Given the description of an element on the screen output the (x, y) to click on. 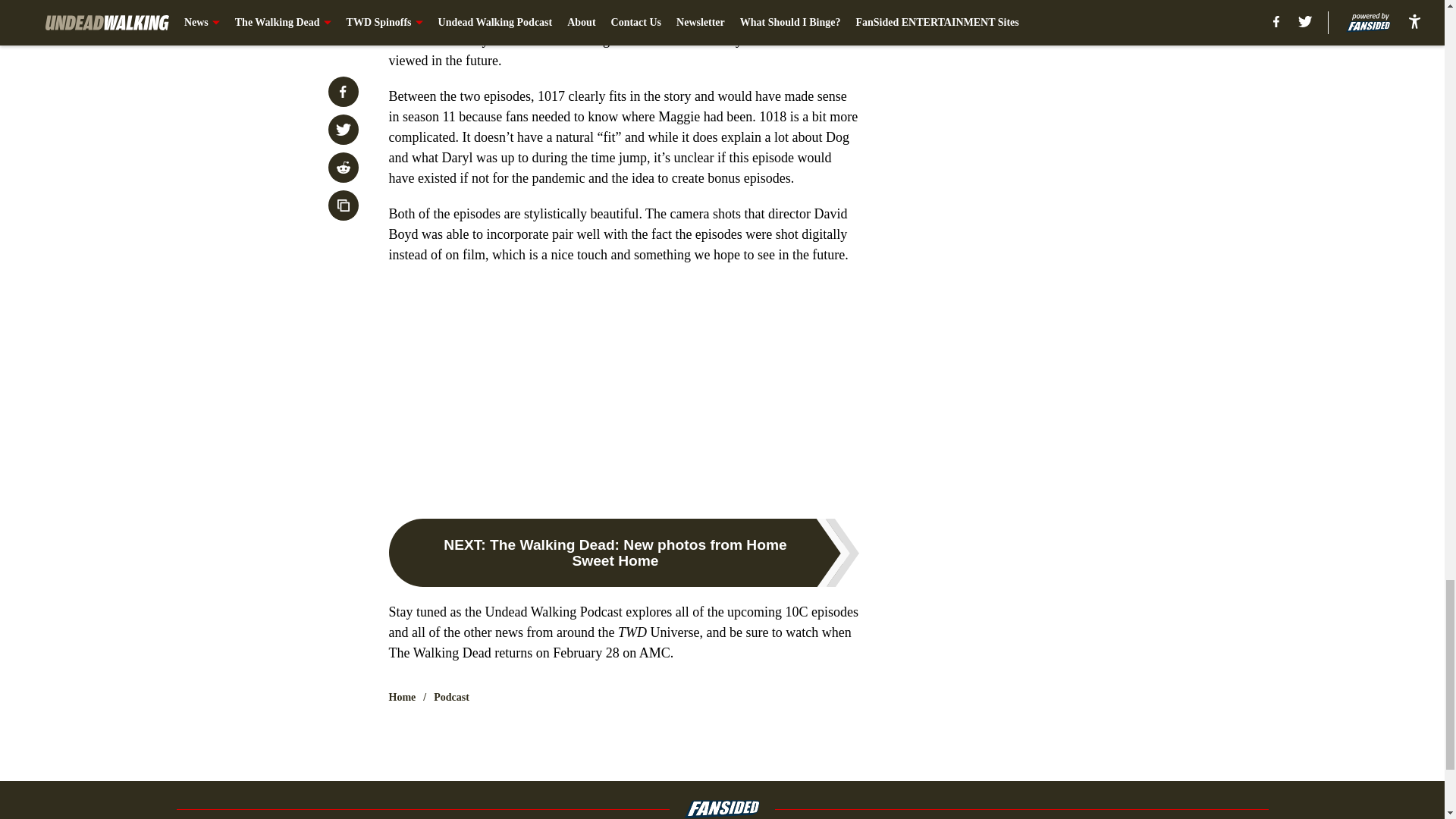
Home (401, 697)
NEXT: The Walking Dead: New photos from Home Sweet Home (623, 552)
Podcast (450, 697)
